Given the description of an element on the screen output the (x, y) to click on. 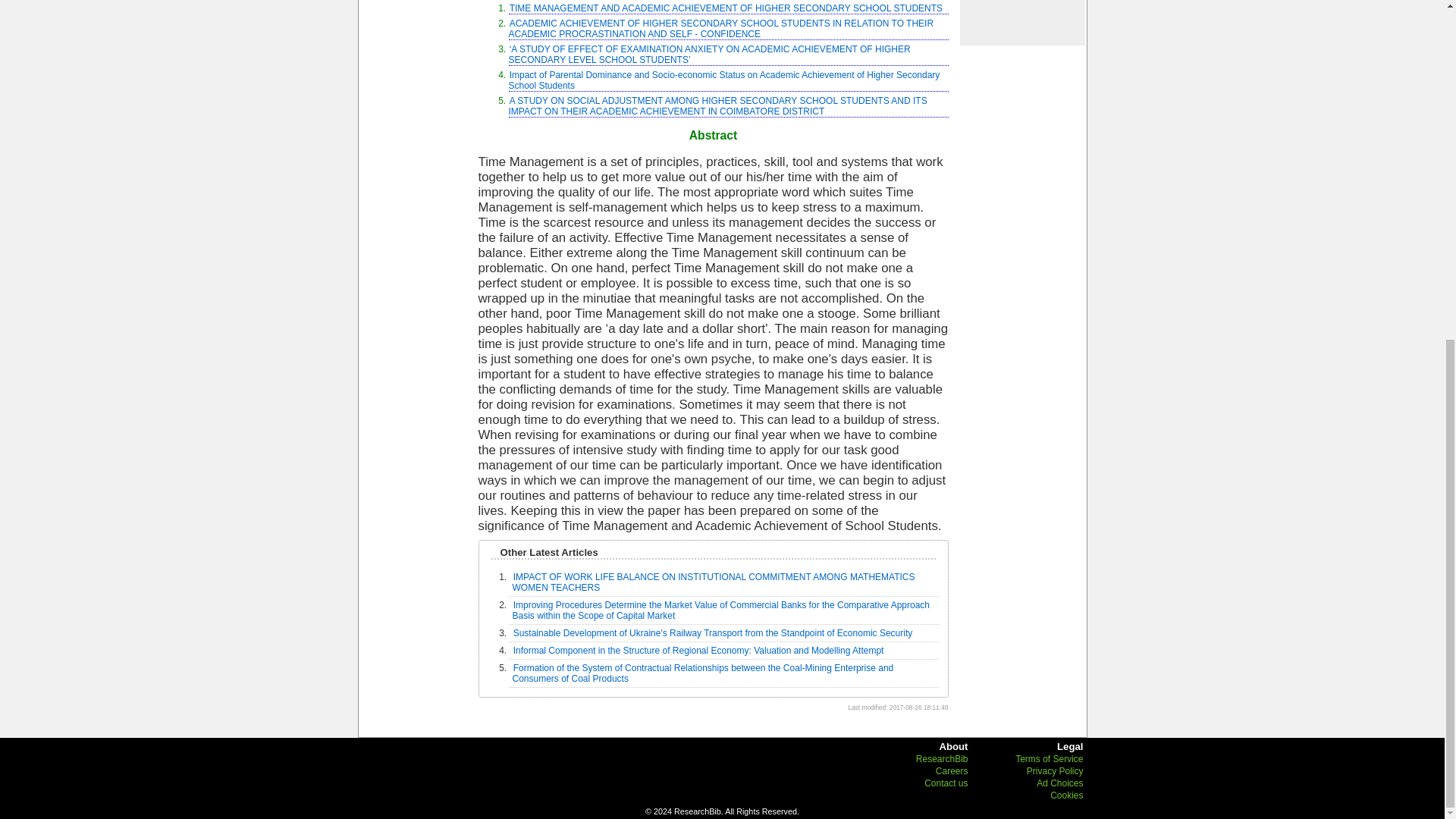
Privacy Policy (1054, 770)
Advertisement (1021, 22)
Ad Choices (1059, 783)
Contact us (946, 783)
ResearchBib (941, 758)
Terms of Service (1048, 758)
Careers (952, 770)
Cookies (1066, 795)
